Given the description of an element on the screen output the (x, y) to click on. 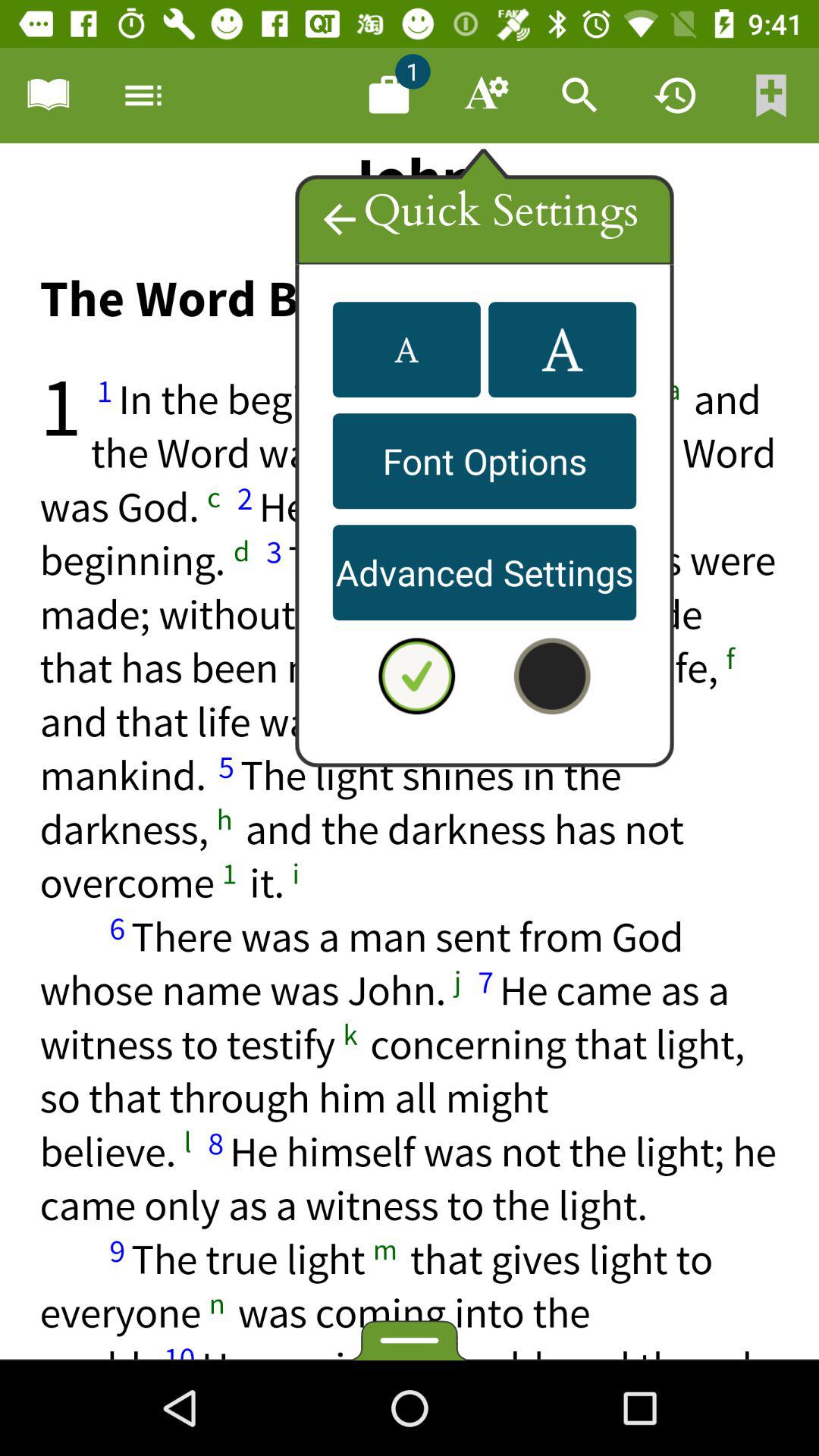
text settings (484, 95)
